Given the description of an element on the screen output the (x, y) to click on. 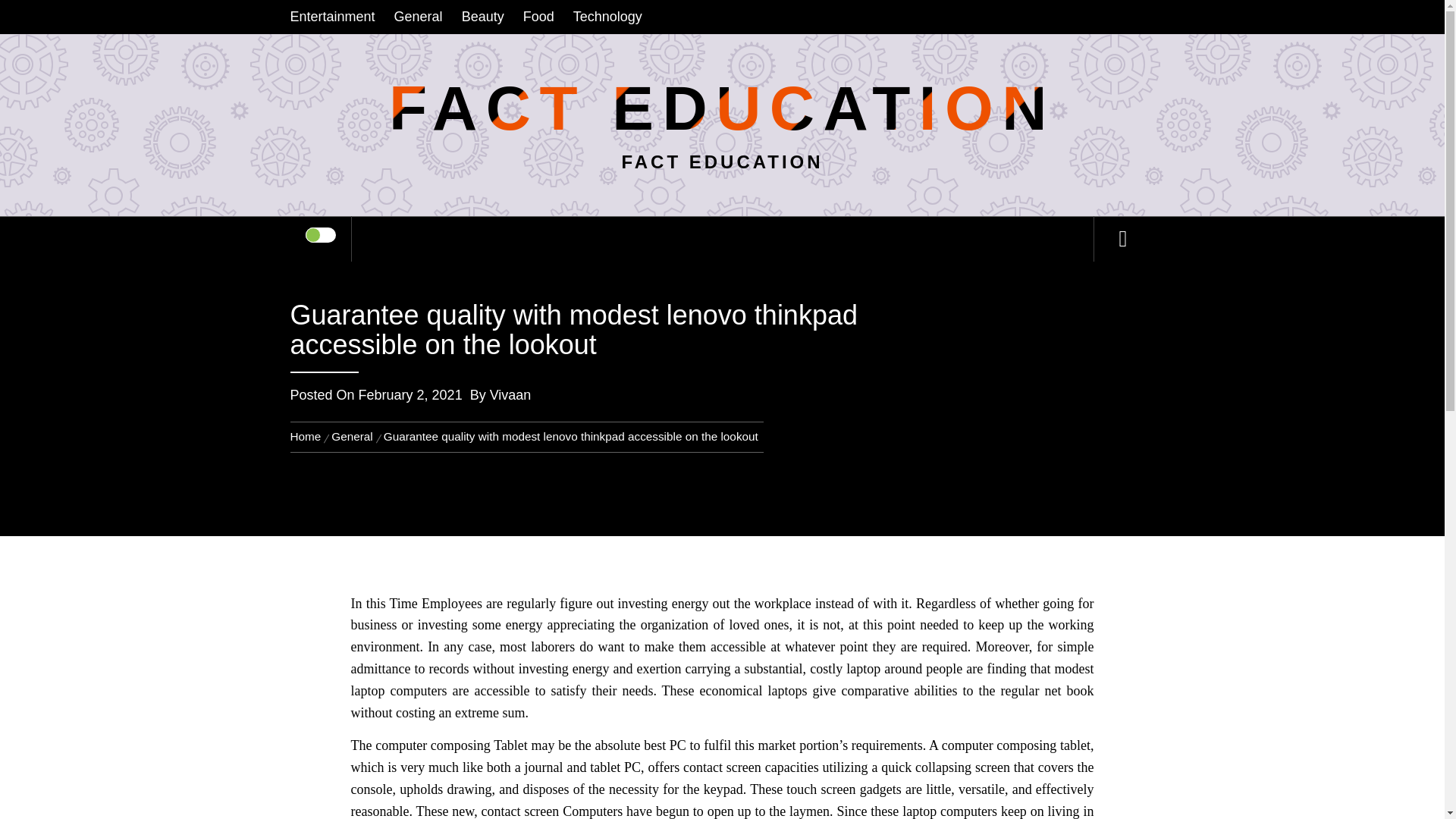
FACT EDUCATION (721, 106)
General (418, 17)
Search (797, 33)
Food (538, 17)
Entertainment (335, 17)
February 2, 2021 (410, 394)
General (351, 436)
Home (307, 436)
Technology (607, 17)
Vivaan (510, 394)
